Given the description of an element on the screen output the (x, y) to click on. 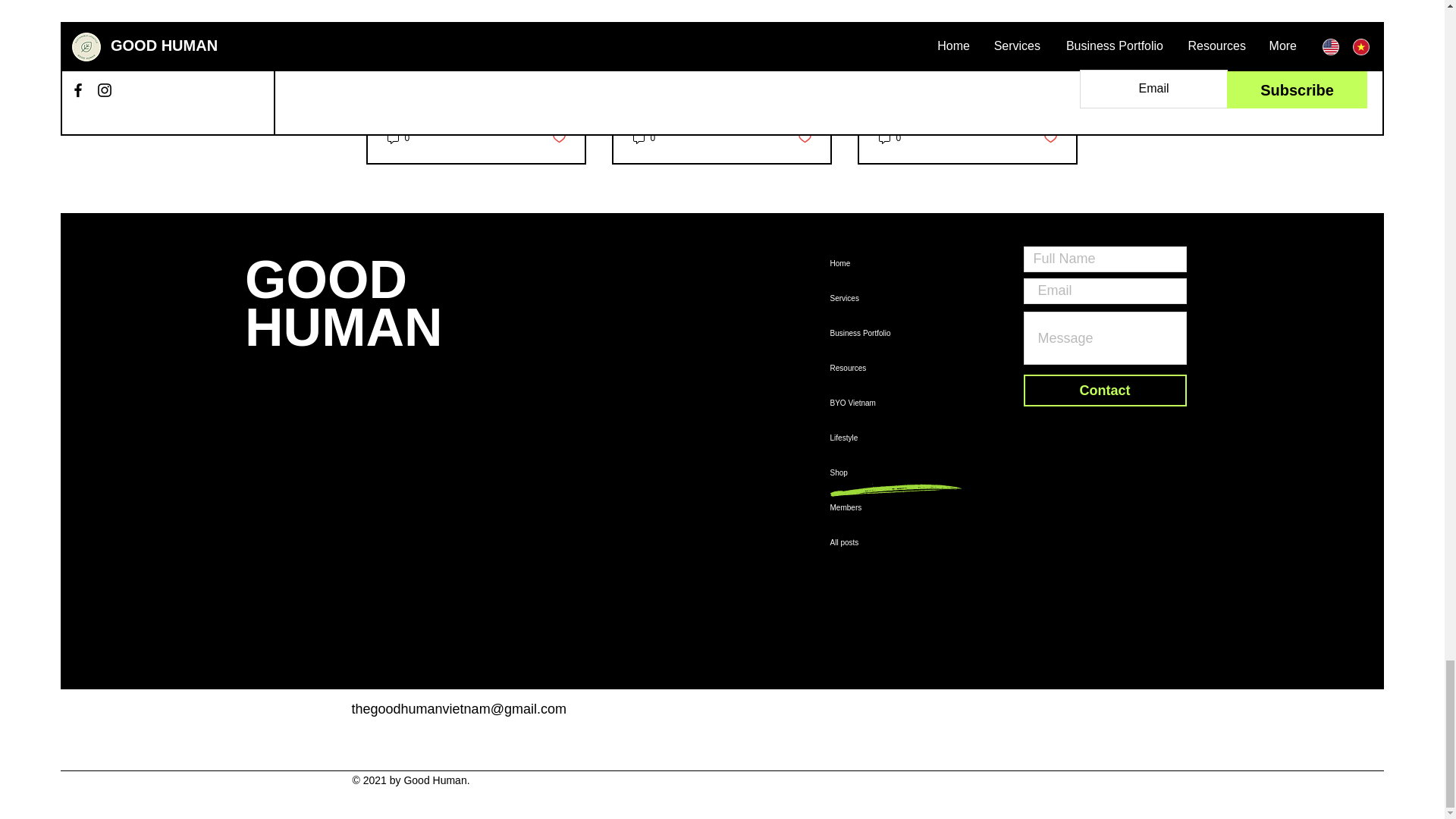
Post not marked as liked (558, 138)
0 (397, 138)
CO2 tracker (1104, 526)
